Given the description of an element on the screen output the (x, y) to click on. 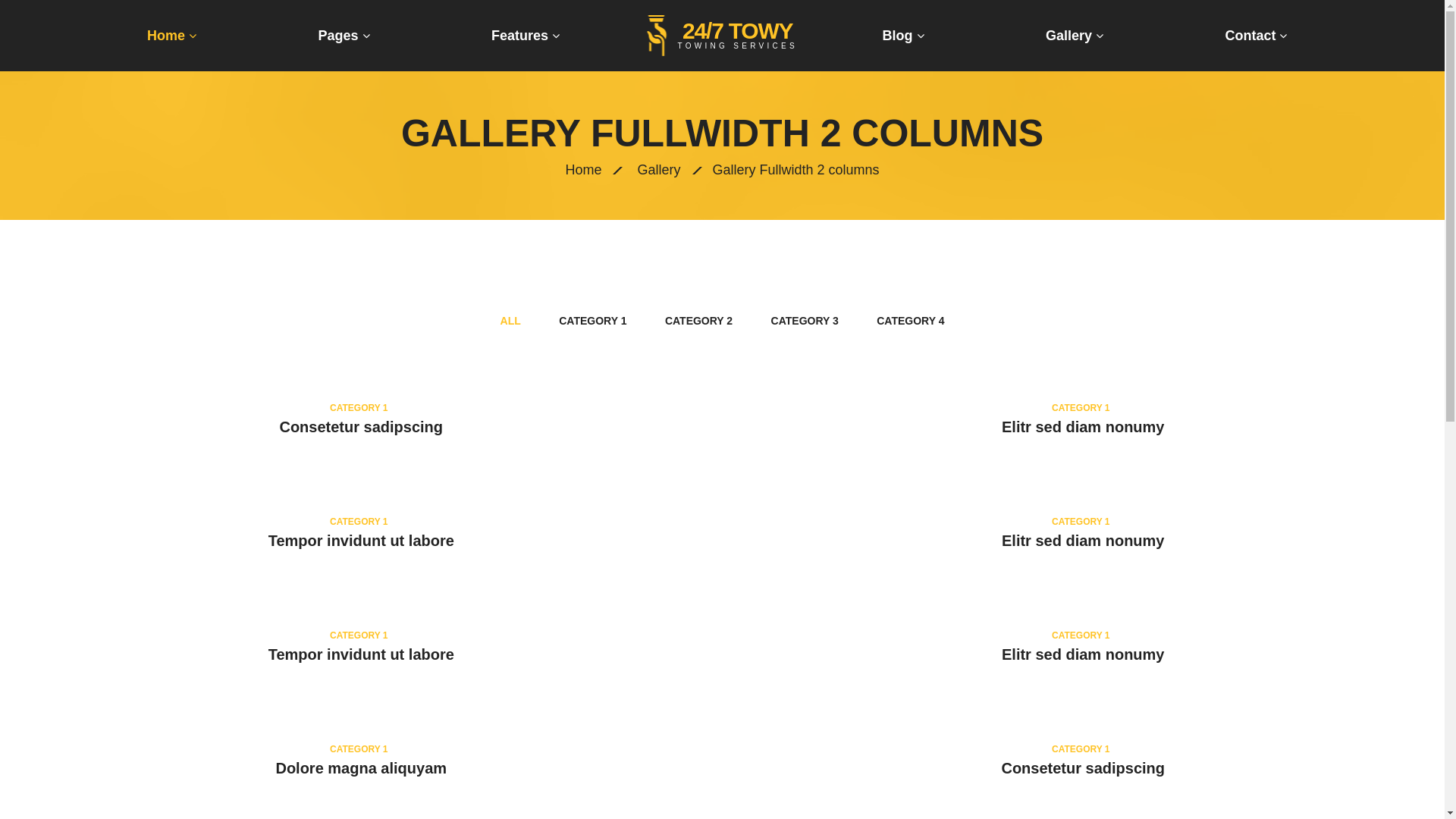
Blog Element type: text (903, 35)
CATEGORY 1 Element type: text (1080, 521)
Elitr sed diam nonumy Element type: text (1082, 426)
Dolore magna aliquyam Element type: text (360, 767)
Home Element type: text (582, 169)
Tempor invidunt ut labore Element type: text (361, 540)
CATEGORY 1 Element type: text (358, 407)
CATEGORY 1 Element type: text (358, 748)
Gallery Element type: text (1074, 35)
CATEGORY 4 Element type: text (910, 320)
Consetetur sadipscing Element type: text (1082, 767)
Gallery Element type: text (658, 169)
24/7 TOWY
TOWING SERVICES Element type: text (721, 35)
Elitr sed diam nonumy Element type: text (1082, 540)
CATEGORY 1 Element type: text (358, 521)
CATEGORY 1 Element type: text (1080, 407)
Home Element type: text (171, 35)
CATEGORY 1 Element type: text (592, 320)
Contact Element type: text (1255, 35)
Consetetur sadipscing Element type: text (360, 426)
Features Element type: text (525, 35)
CATEGORY 3 Element type: text (804, 320)
CATEGORY 1 Element type: text (358, 635)
CATEGORY 1 Element type: text (1080, 748)
Tempor invidunt ut labore Element type: text (361, 654)
Elitr sed diam nonumy Element type: text (1082, 654)
CATEGORY 2 Element type: text (698, 320)
ALL Element type: text (510, 320)
CATEGORY 1 Element type: text (1080, 635)
Pages Element type: text (344, 35)
